Given the description of an element on the screen output the (x, y) to click on. 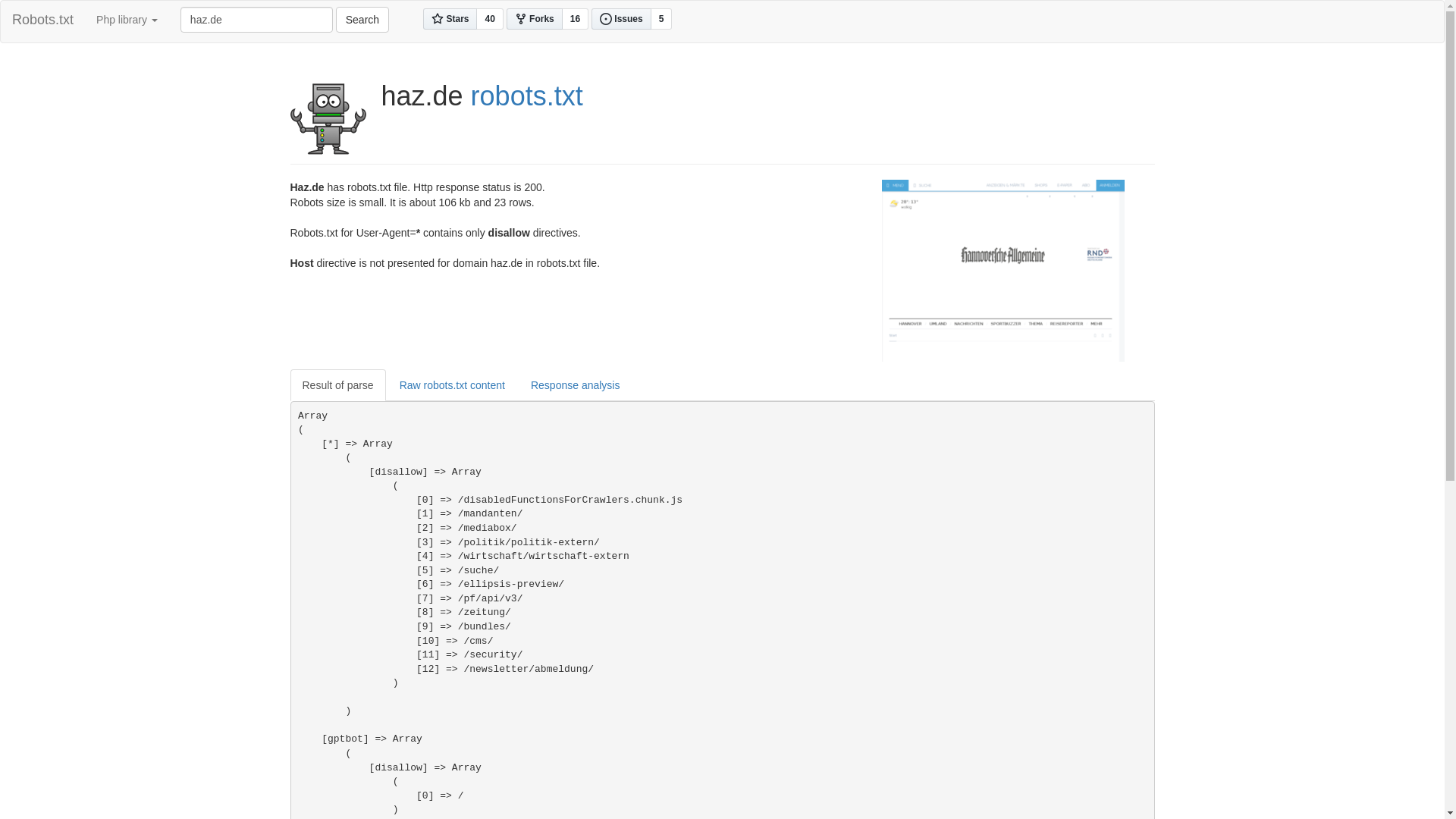
Result of parse Element type: text (337, 385)
Search Element type: text (362, 19)
Raw robots.txt content Element type: text (452, 385)
Response analysis Element type: text (575, 385)
Php library Element type: text (126, 19)
Visit haz.de Element type: hover (1002, 269)
Robots.txt Element type: text (42, 19)
robots.txt Element type: text (526, 95)
